Given the description of an element on the screen output the (x, y) to click on. 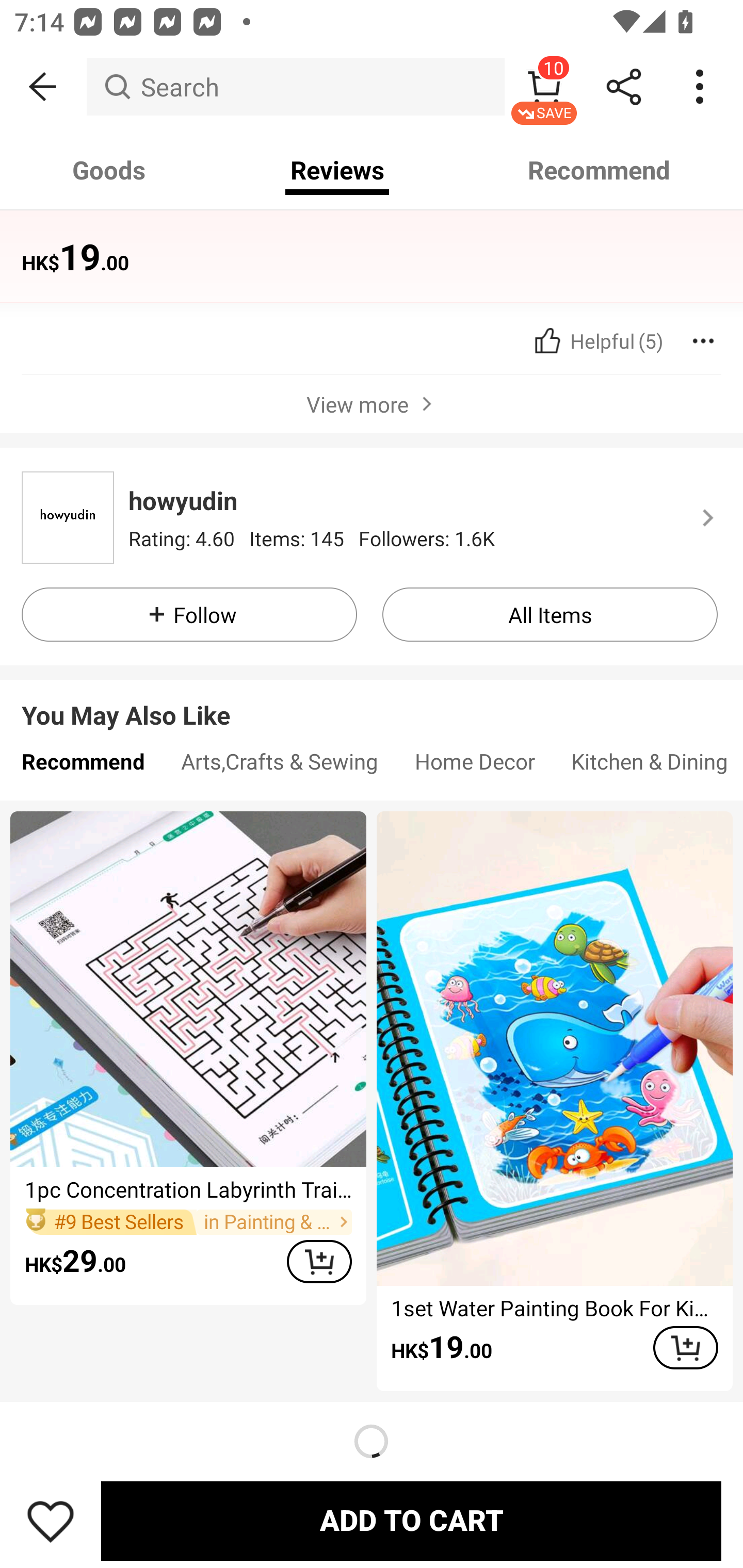
BACK (43, 86)
10 SAVE (543, 87)
Search (295, 87)
Goods (109, 170)
Reviews (337, 170)
Recommend (599, 170)
  Very useful .. My son likes it. (363, 256)
Cancel Helpful Was this article helpful? (5) (596, 340)
View more (371, 402)
Follow (189, 614)
All Items (549, 614)
You May Also Like (371, 699)
Recommend (82, 766)
Arts,Crafts & Sewing (279, 766)
Home Decor (474, 766)
Kitchen & Dining (647, 766)
#9 Best Sellers in Painting & Drawing Supplies (188, 1221)
ADD TO CART (319, 1261)
ADD TO CART (685, 1347)
ADD TO CART (411, 1520)
Save (50, 1520)
